Given the description of an element on the screen output the (x, y) to click on. 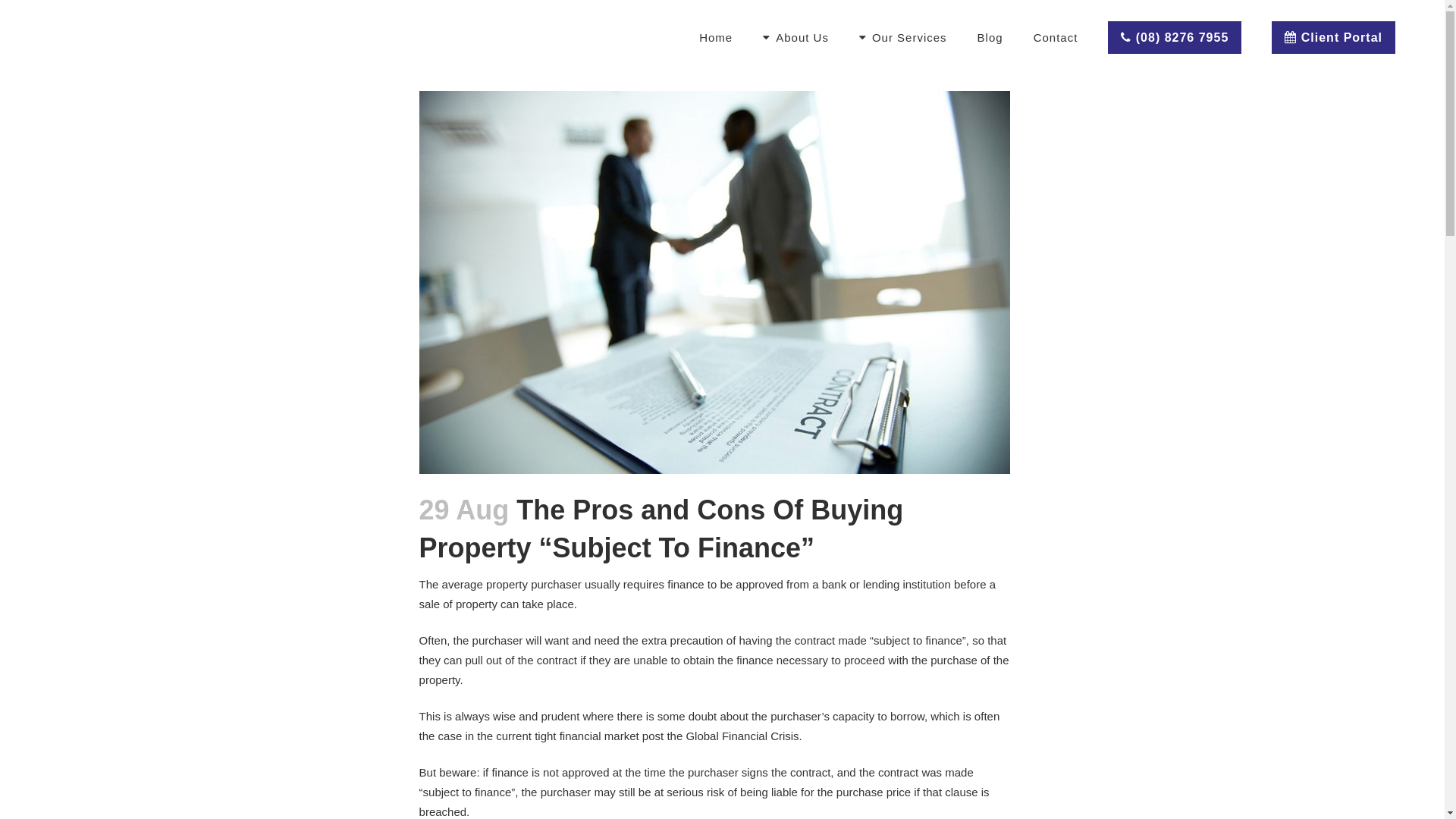
(08) 8276 7955 Element type: text (1174, 37)
Contact Element type: text (1055, 37)
Our Services Element type: text (903, 37)
About Us Element type: text (795, 37)
Home Element type: text (715, 37)
Client Portal Element type: text (1333, 37)
(08) 8276 7955 Element type: text (1174, 37)
Blog Element type: text (990, 37)
Client Portal Element type: text (1333, 37)
